Given the description of an element on the screen output the (x, y) to click on. 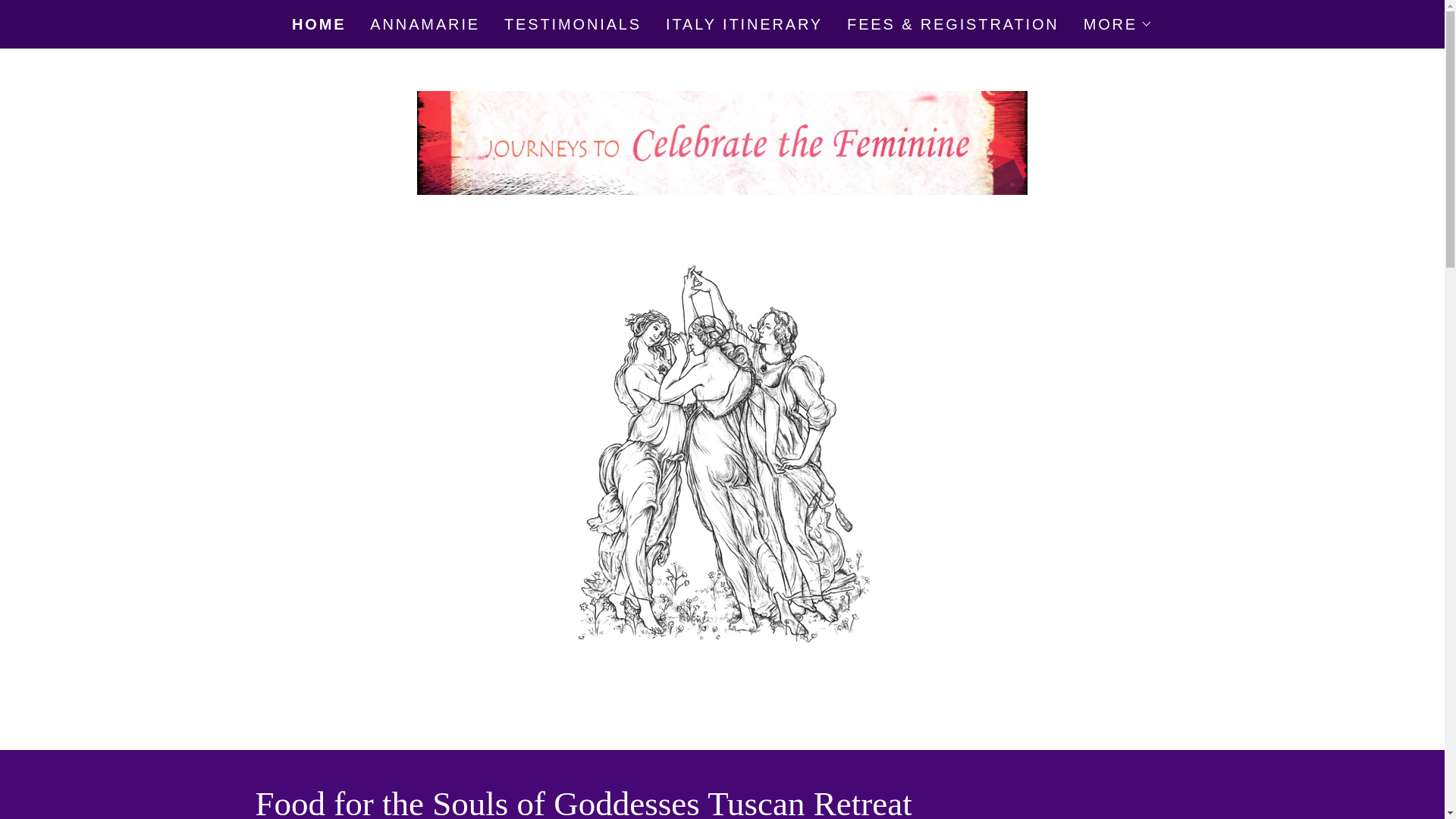
TESTIMONIALS (572, 23)
Journeys to Celebrate the Feminine (721, 141)
ANNAMARIE (424, 23)
HOME (319, 24)
MORE (1118, 24)
ITALY ITINERARY (744, 23)
